Given the description of an element on the screen output the (x, y) to click on. 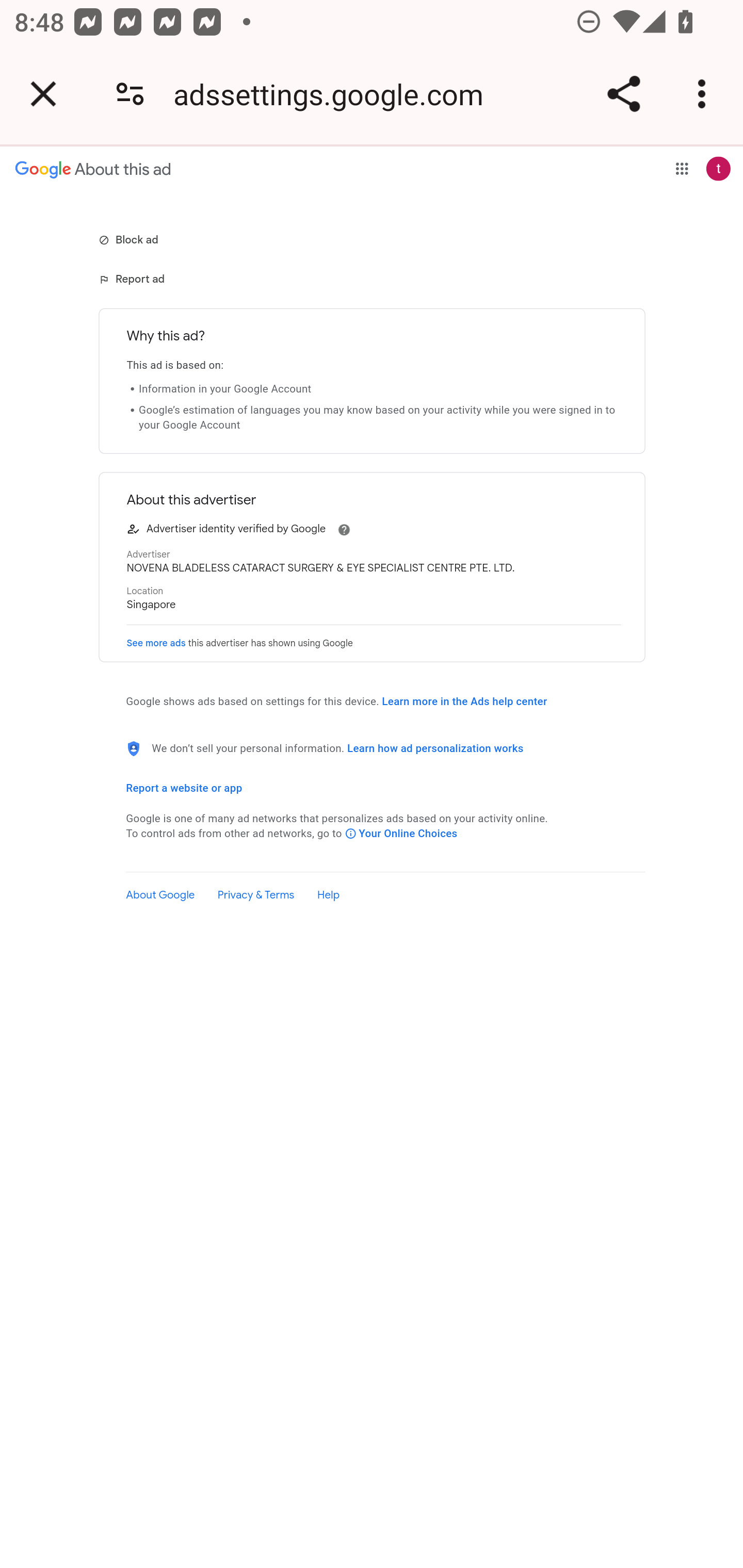
Close tab (43, 93)
Share (623, 93)
Customize and control Google Chrome (705, 93)
Connection is secure (129, 93)
adssettings.google.com (335, 93)
Google apps (681, 168)
Block ad (129, 239)
Report ad (opens in new tab) Report ad (133, 278)
See more ads (opens in new tab) See more ads (155, 642)
Learn more in the Ads help center (463, 701)
Learn how ad personalization works (434, 748)
Report a website or app (183, 788)
Your Online Choices (400, 833)
About Google (159, 895)
Privacy & Terms (255, 895)
Help (328, 895)
